Given the description of an element on the screen output the (x, y) to click on. 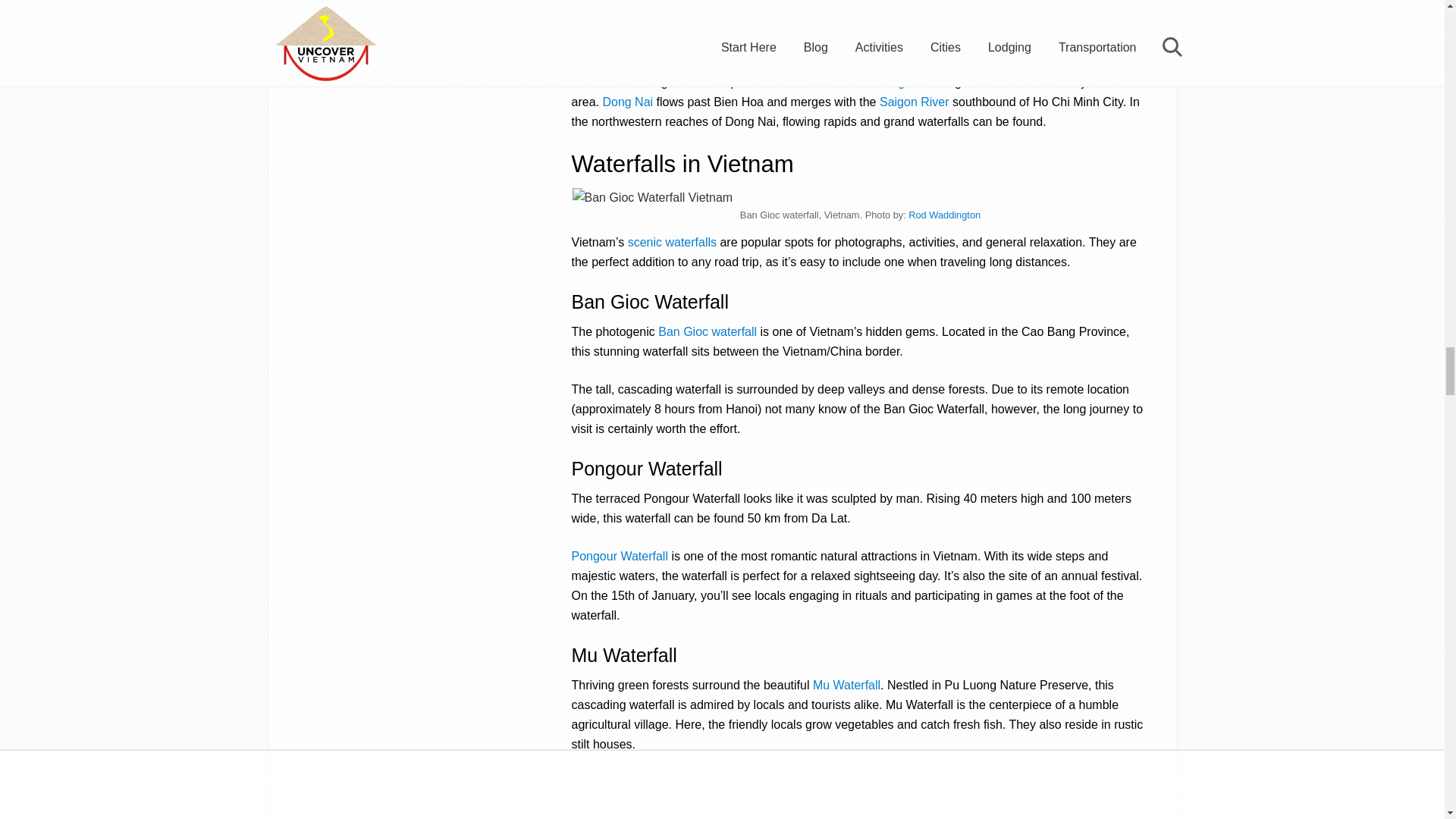
Waterfalls in Vietnam (671, 241)
